Given the description of an element on the screen output the (x, y) to click on. 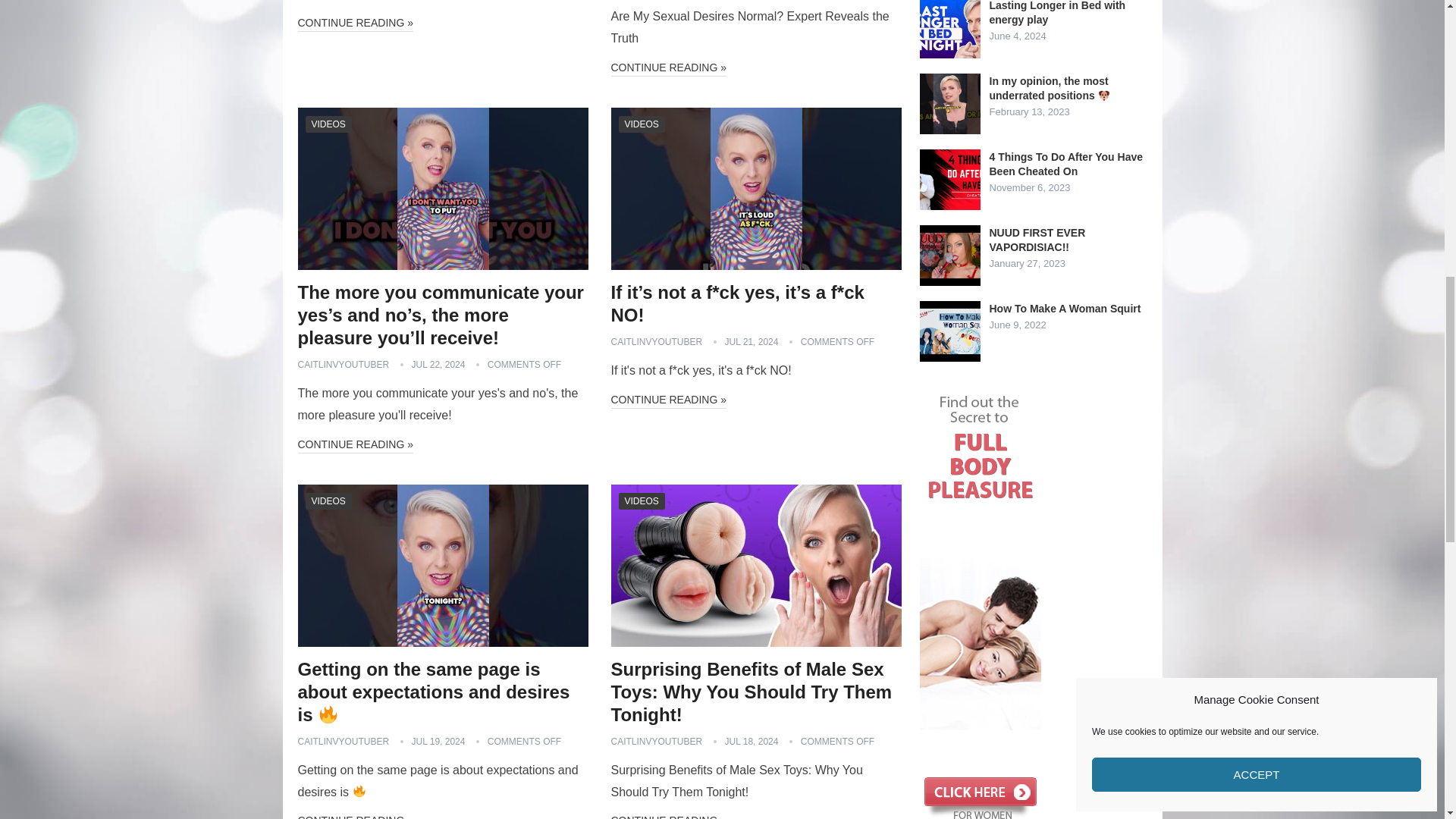
Posts by CaitlinVYoutuber (342, 364)
View all posts in Videos (327, 124)
